Given the description of an element on the screen output the (x, y) to click on. 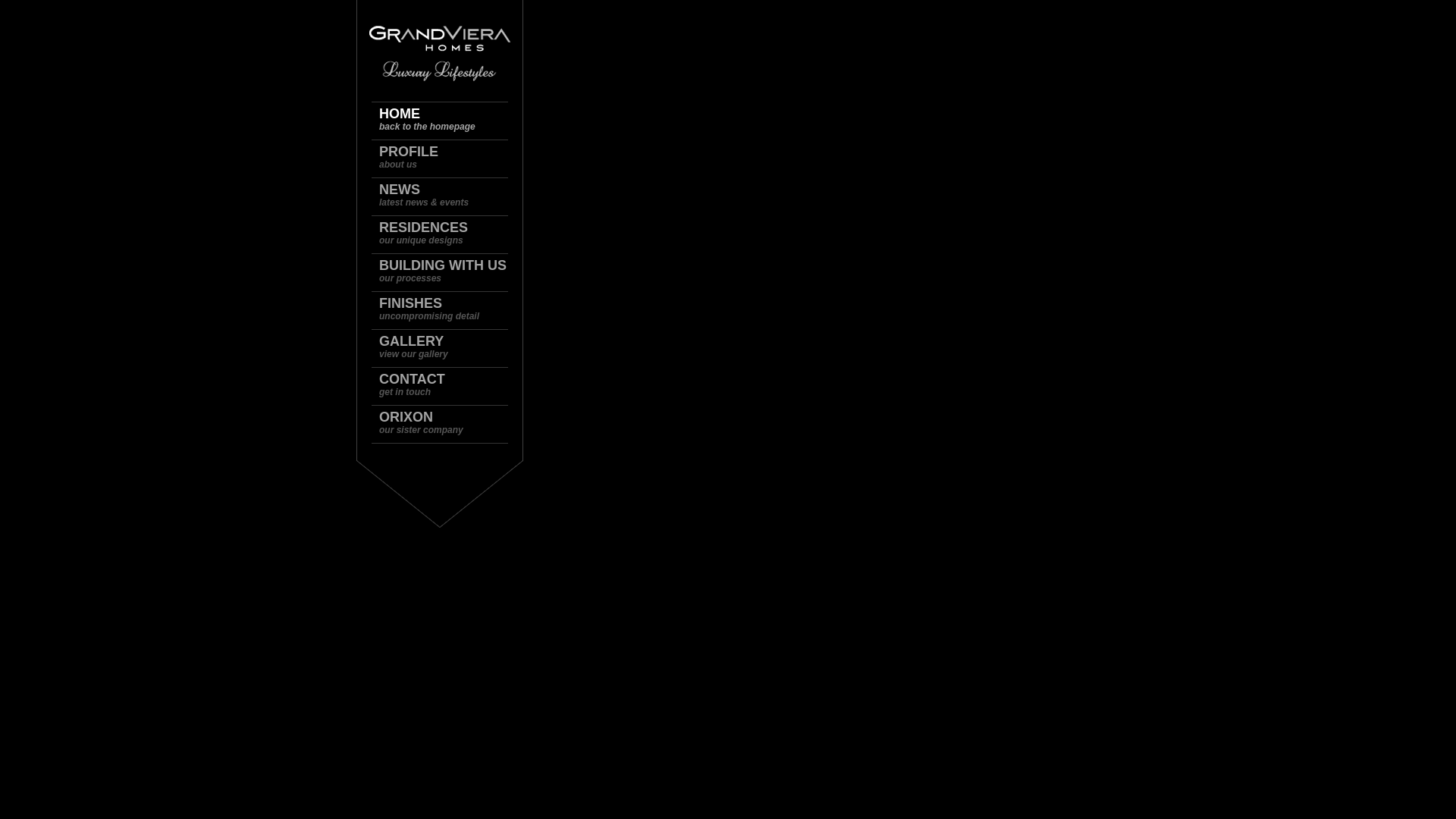
ORIXON
our sister company Element type: text (447, 424)
HOME
back to the homepage Element type: text (447, 121)
BUILDING WITH US
our processes Element type: text (447, 272)
CONTACT
get in touch Element type: text (447, 386)
PROFILE
about us Element type: text (447, 159)
FINISHES
uncompromising detail Element type: text (447, 310)
RESIDENCES
our unique designs Element type: text (447, 234)
NEWS
latest news & events Element type: text (447, 197)
GALLERY
view our gallery Element type: text (447, 348)
